Given the description of an element on the screen output the (x, y) to click on. 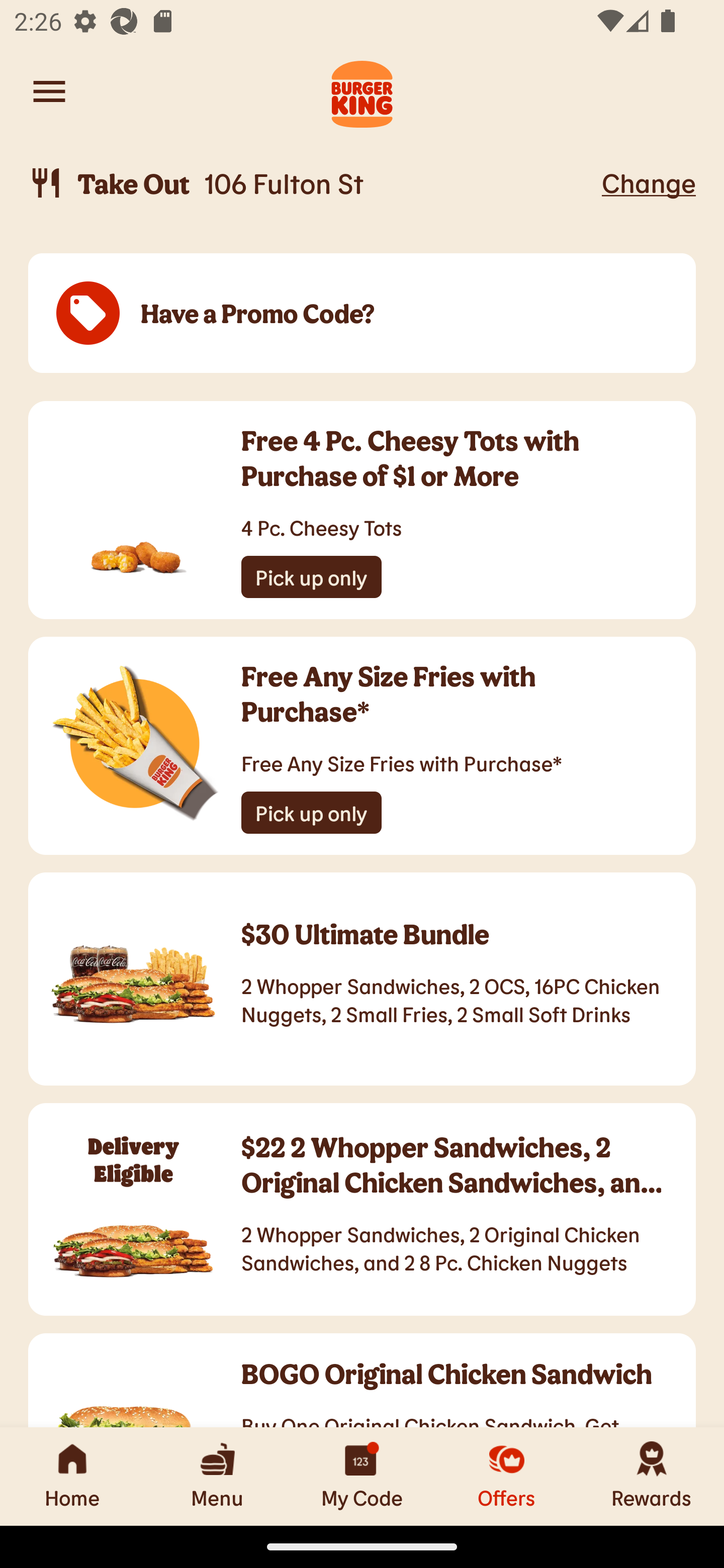
Burger King Logo. Navigate to Home (362, 91)
Navigate to account menu  (49, 91)
Take Out, 106 Fulton St  Take Out 106 Fulton St (311, 183)
Change (648, 182)
Have a Promo Code?  Have a Promo Code? (361, 313)
Home (72, 1475)
Menu (216, 1475)
My Code (361, 1475)
Offers (506, 1475)
Rewards (651, 1475)
